Given the description of an element on the screen output the (x, y) to click on. 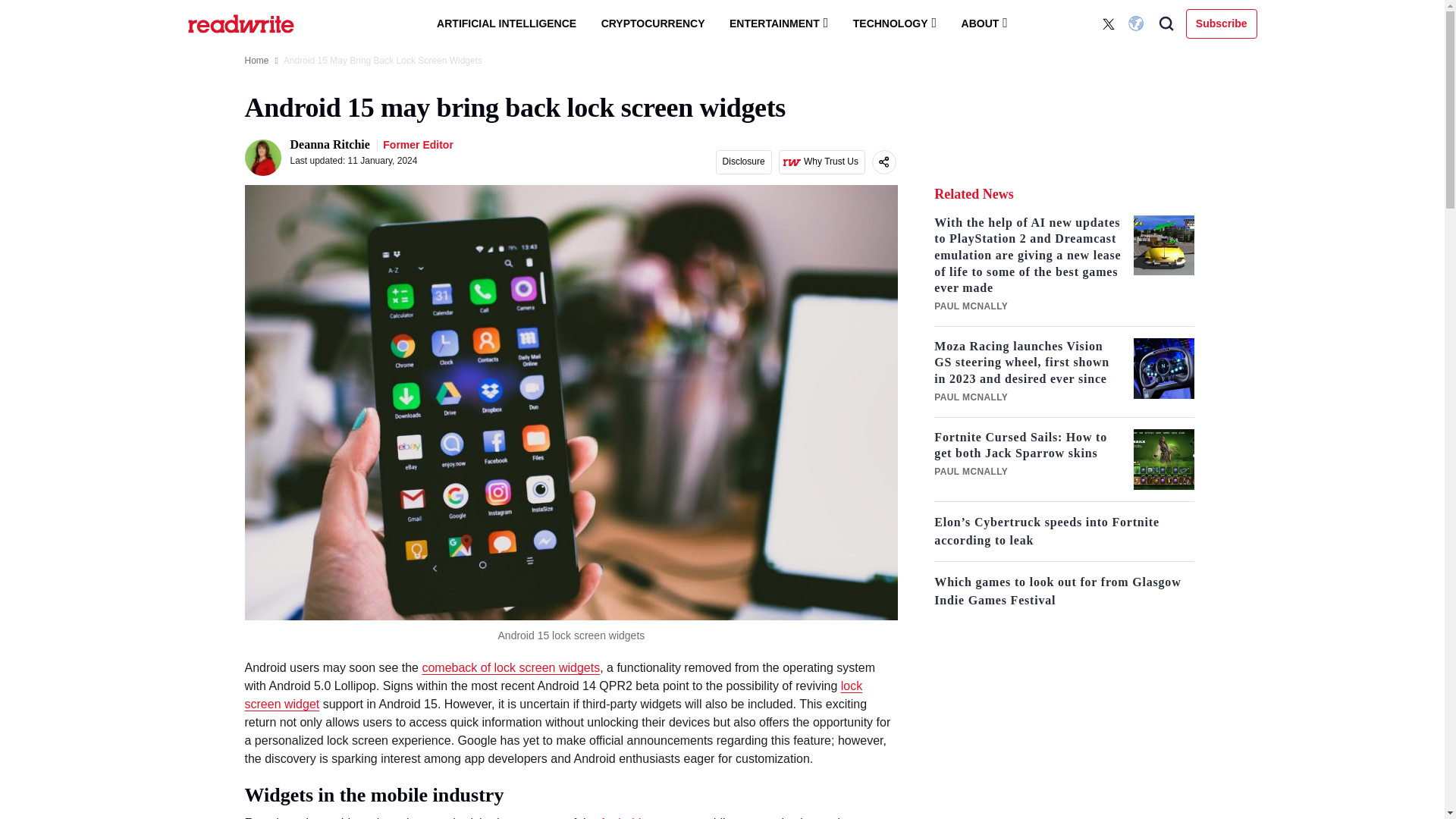
Home (255, 60)
TECHNOLOGY (895, 23)
English (1137, 23)
ENTERTAINMENT (778, 23)
CRYPTOCURRENCY (653, 23)
Subscribe (1221, 23)
ARTIFICIAL INTELLIGENCE (506, 23)
ABOUT (983, 23)
